Given the description of an element on the screen output the (x, y) to click on. 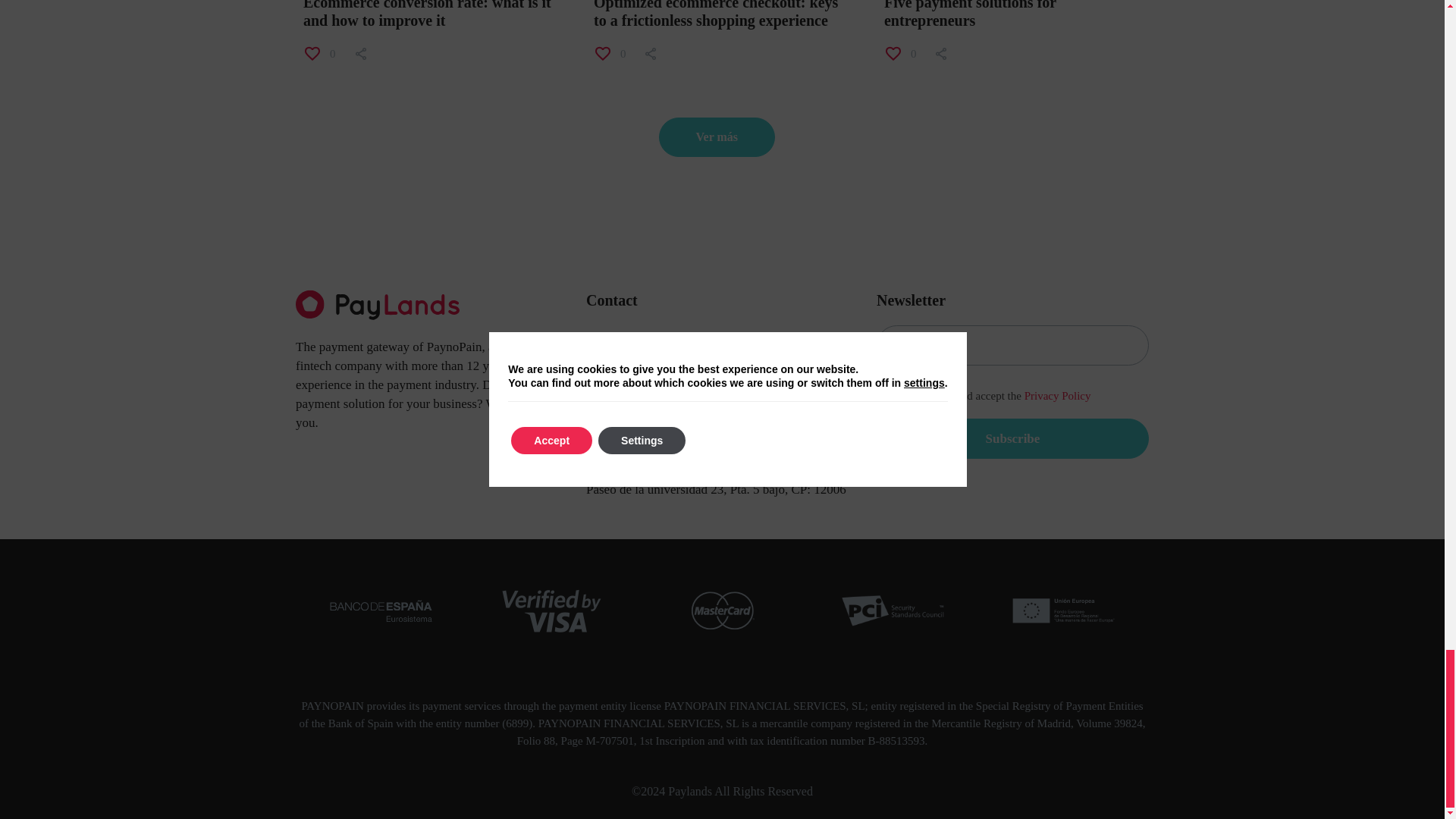
Subscribe (1012, 438)
1 (884, 396)
